Given the description of an element on the screen output the (x, y) to click on. 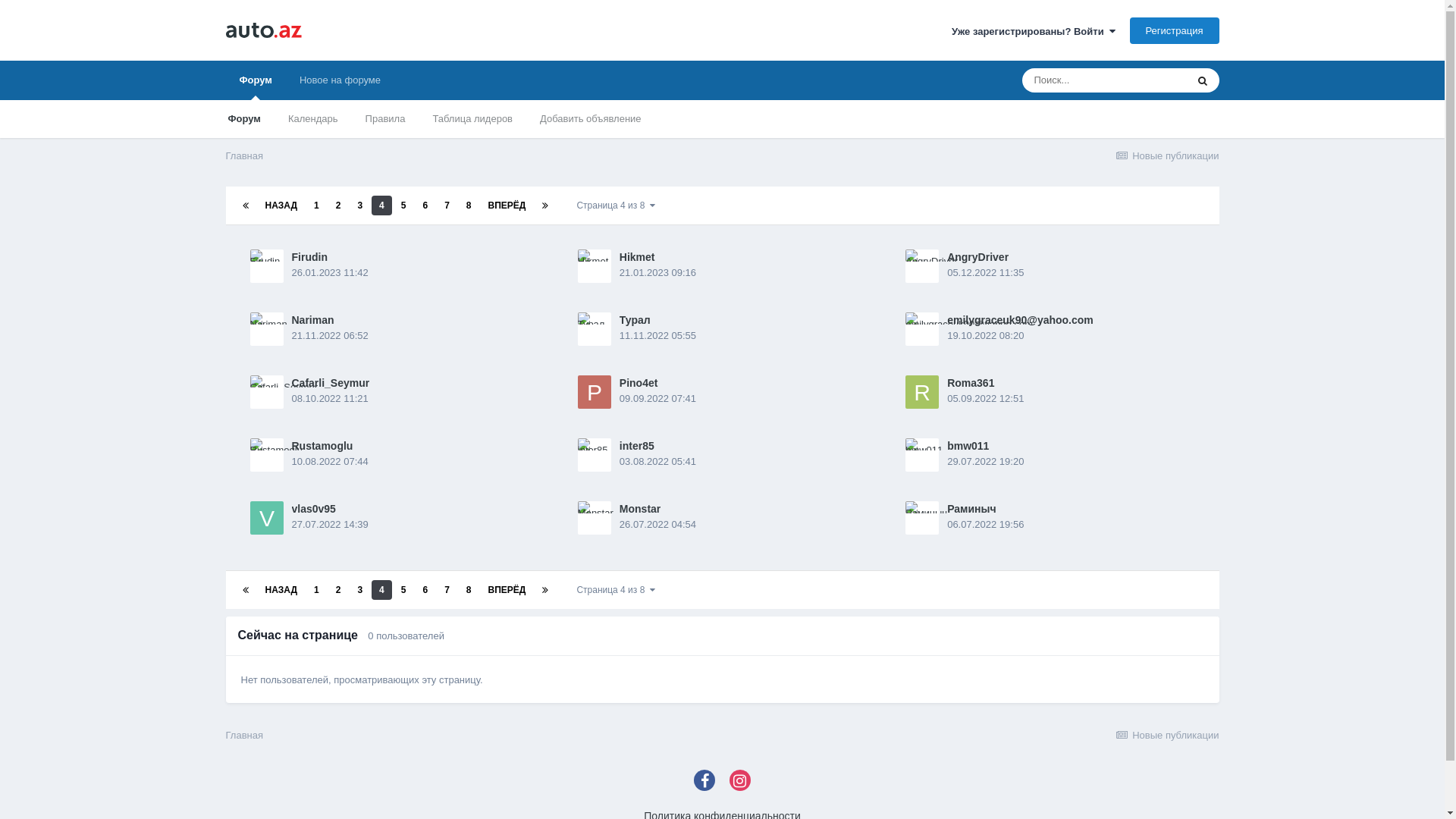
7 Element type: text (446, 205)
5 Element type: text (403, 205)
2 Element type: text (338, 589)
3 Element type: text (359, 205)
4 Element type: text (381, 589)
4 Element type: text (381, 205)
3 Element type: text (359, 589)
5 Element type: text (403, 589)
8 Element type: text (468, 589)
1 Element type: text (316, 589)
2 Element type: text (338, 205)
6 Element type: text (424, 205)
6 Element type: text (424, 589)
1 Element type: text (316, 205)
7 Element type: text (446, 589)
8 Element type: text (468, 205)
